Given the description of an element on the screen output the (x, y) to click on. 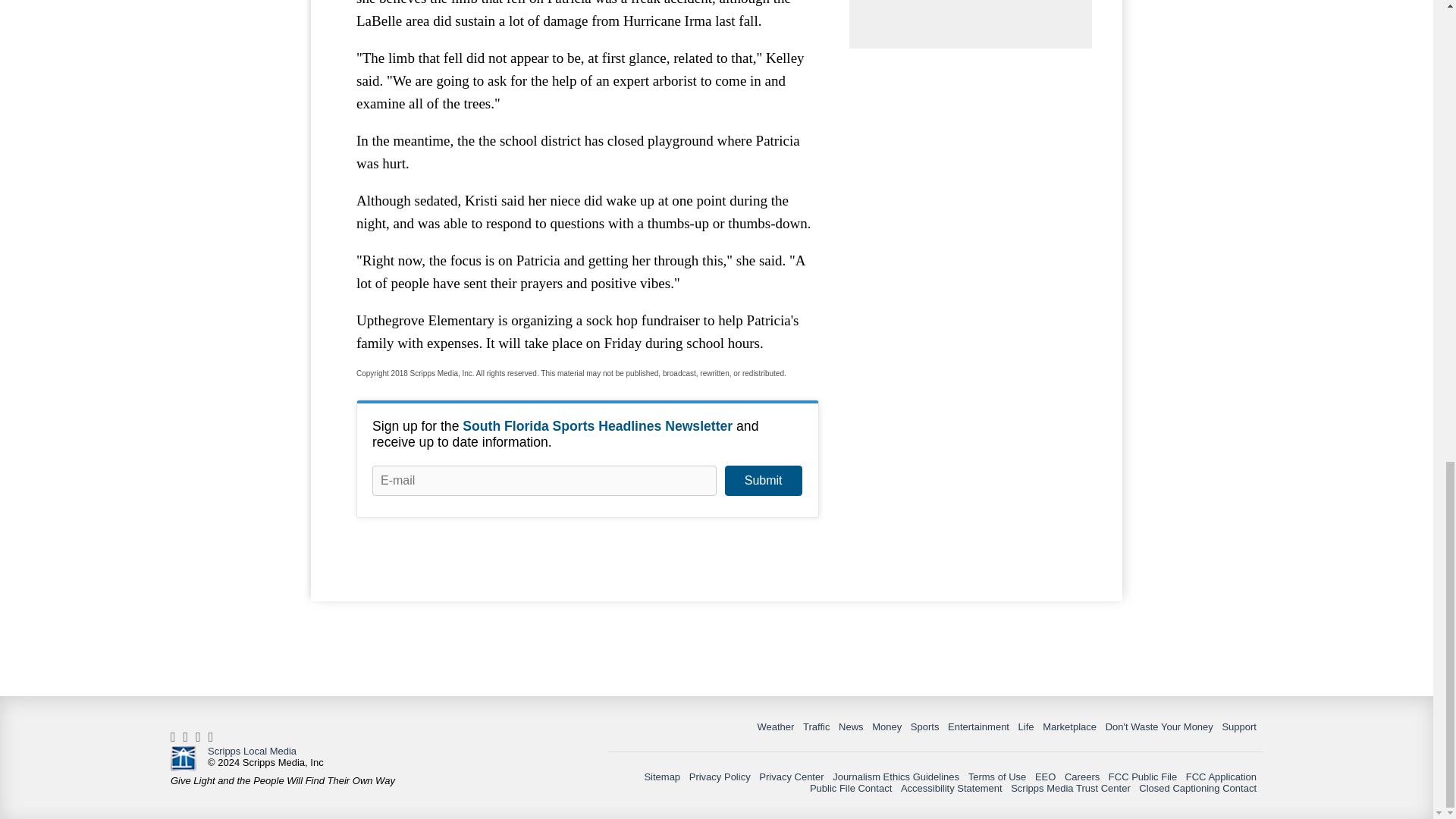
Submit (763, 481)
